Given the description of an element on the screen output the (x, y) to click on. 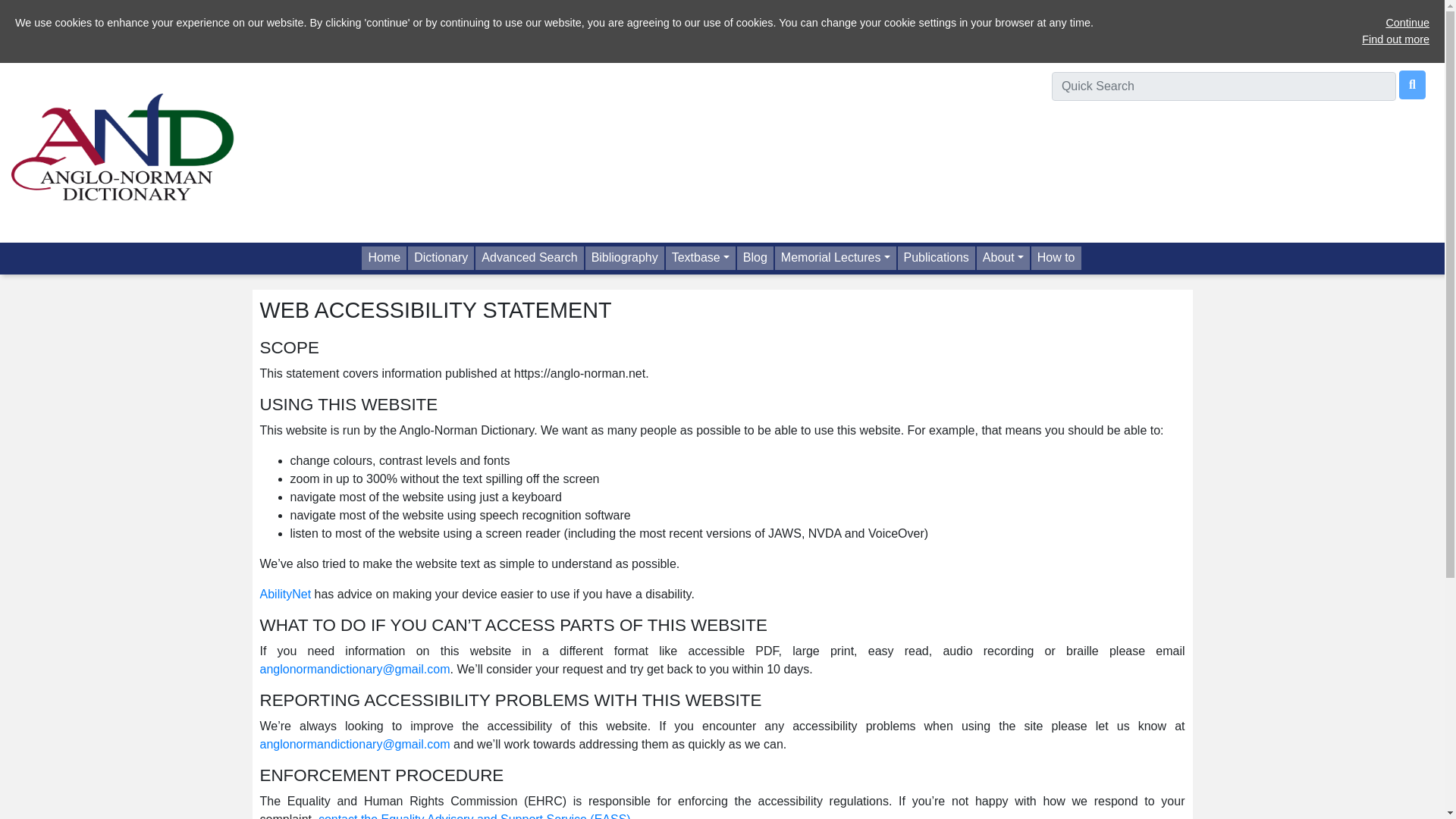
Quick Search (1412, 84)
Textbase (700, 257)
Memorial Lectures (836, 257)
Blog (755, 257)
About (1003, 257)
AbilityNet (285, 594)
Advanced Search (530, 257)
Find out more (1395, 39)
Dictionary (441, 257)
Continue (1407, 22)
Home (384, 257)
Publications (937, 257)
Bibliography (625, 257)
How to (1056, 257)
